Given the description of an element on the screen output the (x, y) to click on. 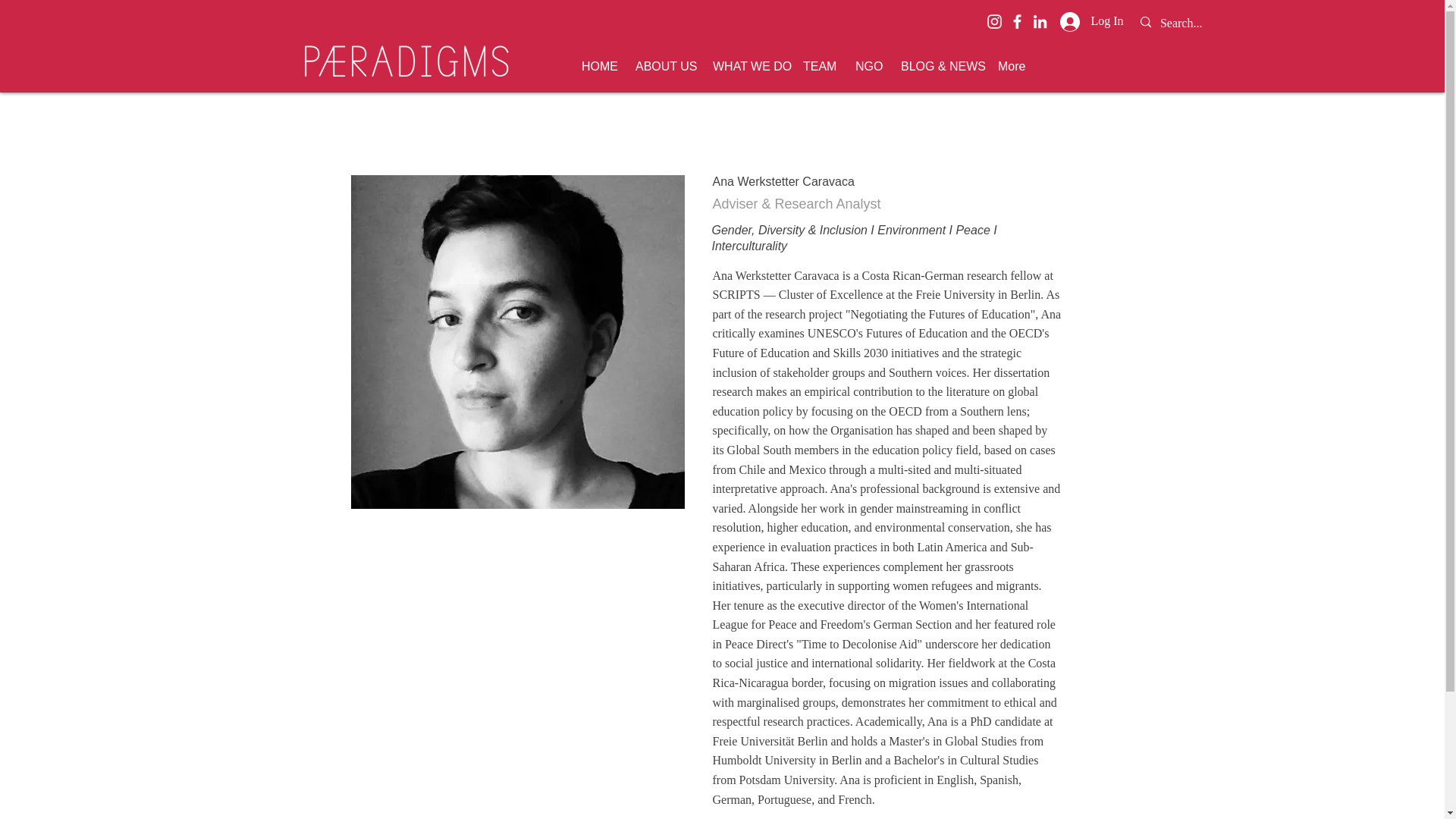
Ana.jpg (517, 341)
Log In (1091, 21)
HOME (597, 66)
ABOUT US (662, 66)
TEAM (818, 66)
NGO (866, 66)
